Given the description of an element on the screen output the (x, y) to click on. 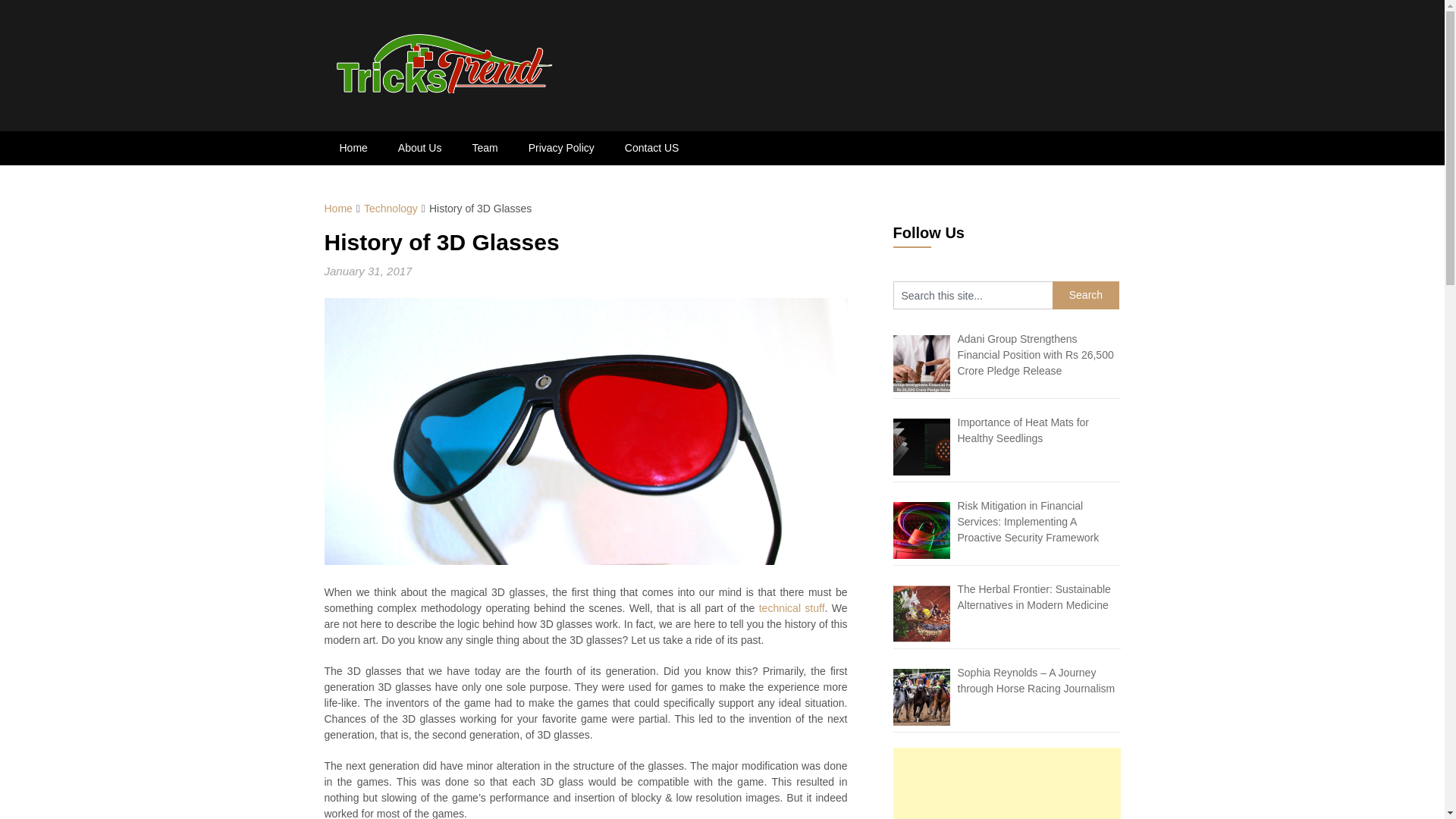
Home (338, 208)
Privacy Policy (561, 148)
Contact US (652, 148)
Team (484, 148)
Advertisement (1007, 783)
Importance of Heat Mats for Healthy Seedlings (1022, 430)
About Us (419, 148)
technical stuff (791, 607)
Search this site... (972, 295)
Search (1085, 295)
Home (353, 148)
